Given the description of an element on the screen output the (x, y) to click on. 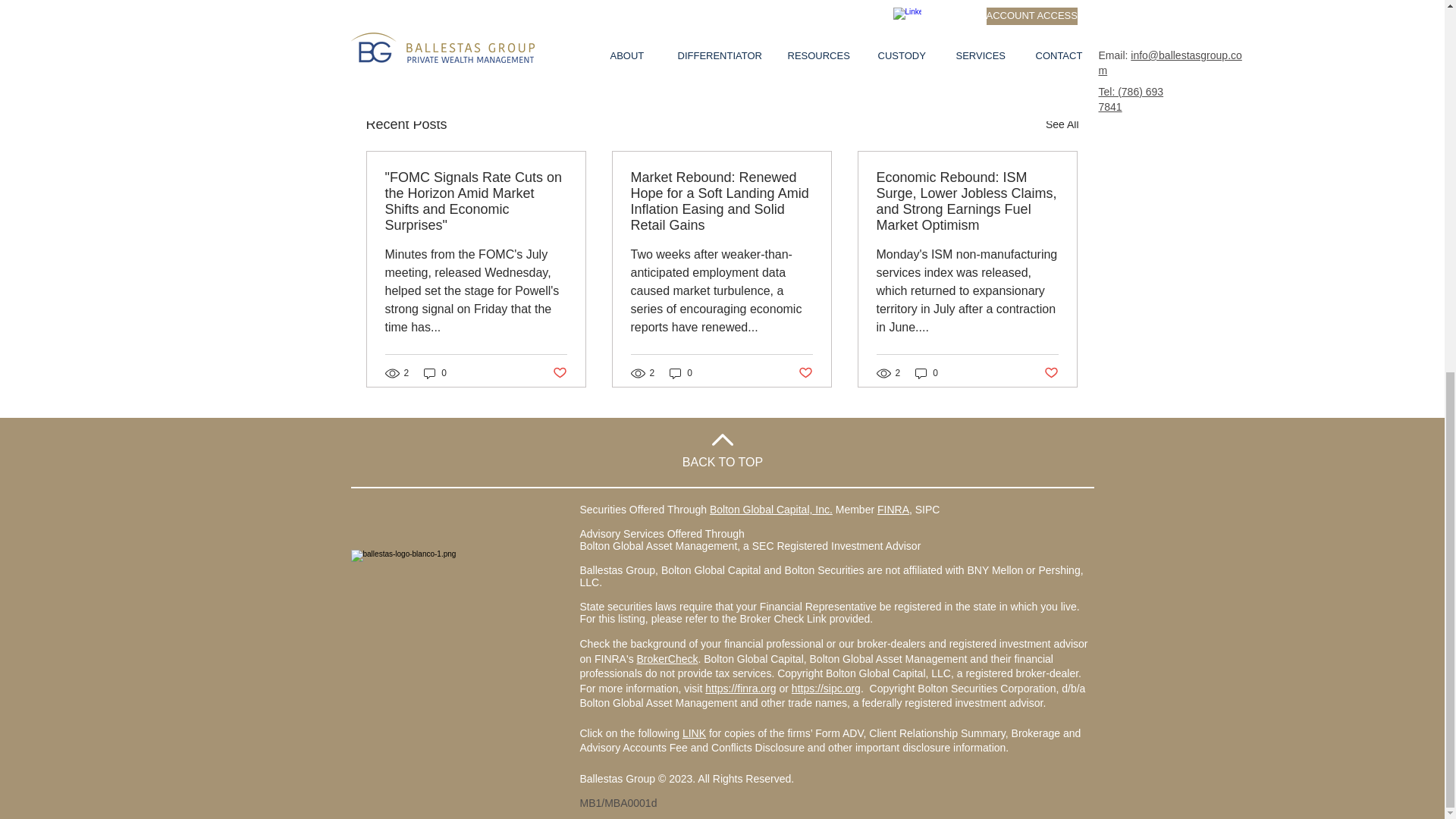
BACK TO TOP (722, 461)
Post not marked as liked (995, 41)
Post not marked as liked (804, 373)
Bolton Global Capital, Inc. (771, 509)
BrokerCheck (667, 658)
Post not marked as liked (1050, 373)
FINRA (892, 509)
